Given the description of an element on the screen output the (x, y) to click on. 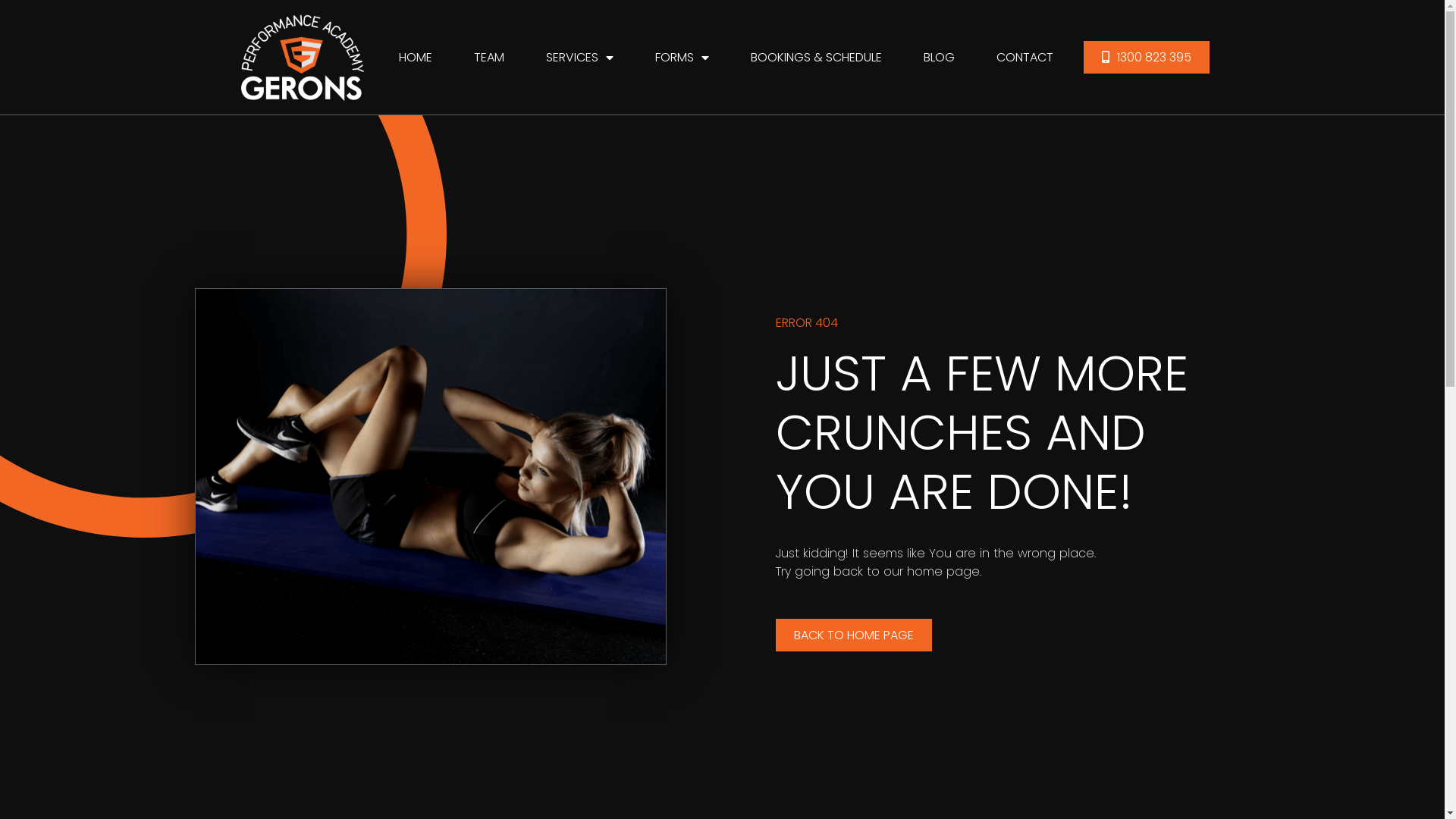
TEAM Element type: text (488, 57)
BACK TO HOME PAGE Element type: text (853, 634)
BOOKINGS & SCHEDULE Element type: text (816, 57)
SERVICES Element type: text (579, 57)
1300 823 395 Element type: text (1145, 56)
CONTACT Element type: text (1024, 57)
BLOG Element type: text (938, 57)
HOME Element type: text (415, 57)
FORMS Element type: text (682, 57)
